Given the description of an element on the screen output the (x, y) to click on. 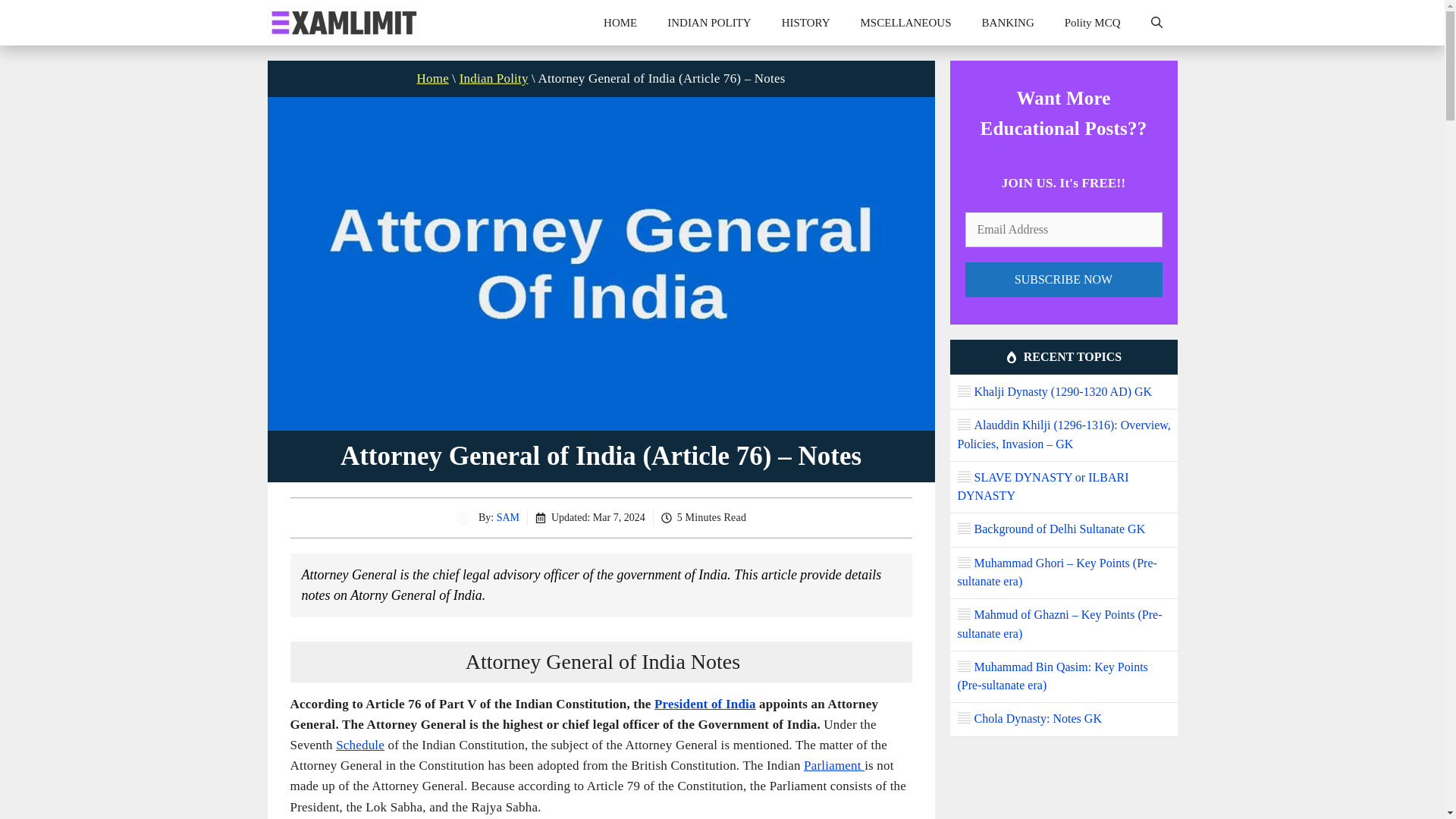
SUBSCRIBE NOW (1062, 279)
SAM (507, 517)
MSCELLANEOUS (905, 22)
INDIAN POLITY (708, 22)
HOME (620, 22)
Polity MCQ (1092, 22)
President of India (704, 703)
Indian Polity (494, 78)
Schedule (360, 744)
Parliament (833, 765)
